Given the description of an element on the screen output the (x, y) to click on. 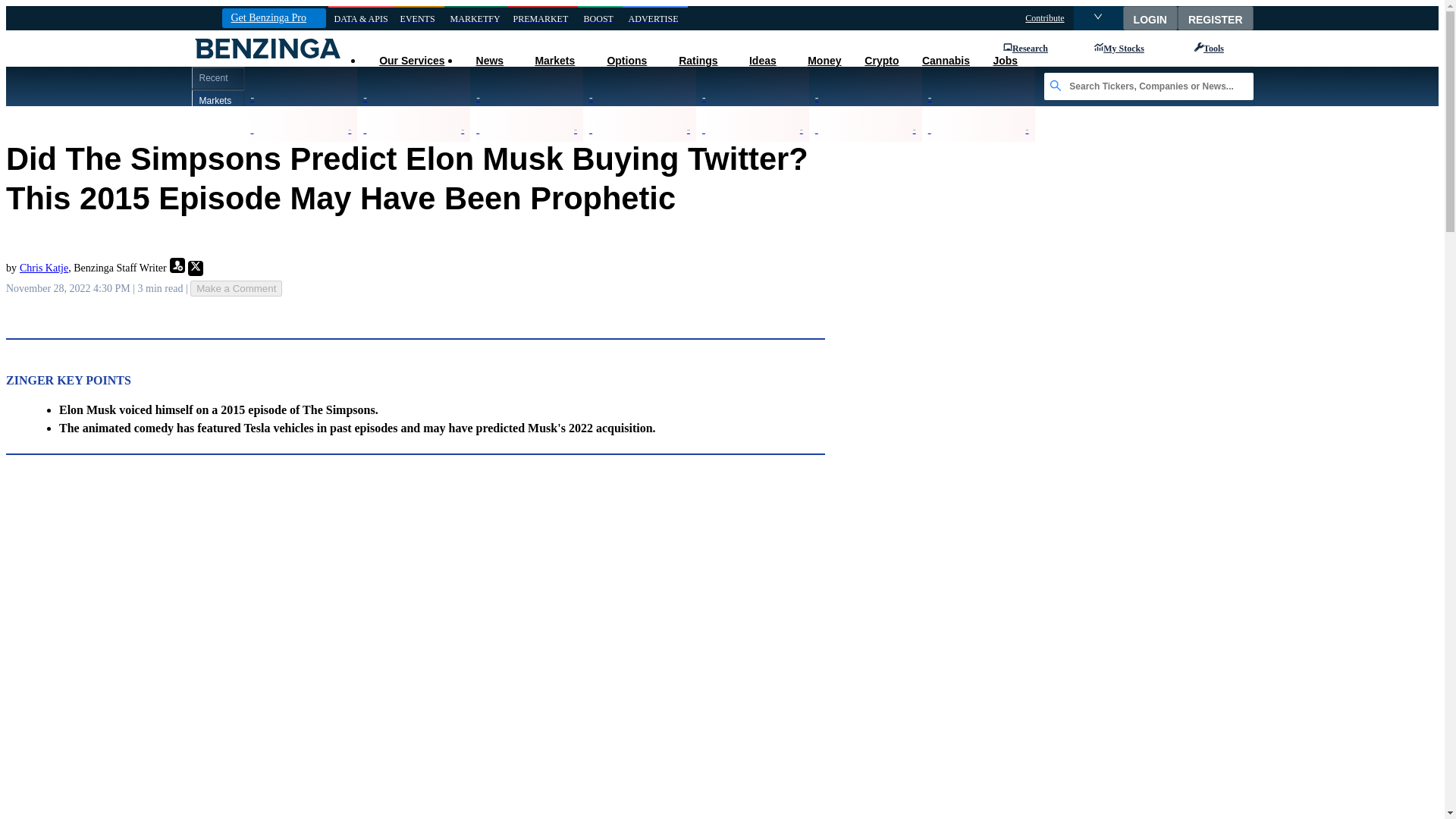
Contribute (1044, 17)
Get Benzinga Pro (272, 17)
MARKETFY (475, 18)
EVENTS (419, 18)
ADVERTISE (655, 18)
News (489, 60)
PREMARKET (542, 18)
REGISTER (1215, 17)
LOGIN (1149, 17)
Our Services (411, 60)
BOOST (600, 18)
Our Services (411, 60)
News (489, 60)
